Given the description of an element on the screen output the (x, y) to click on. 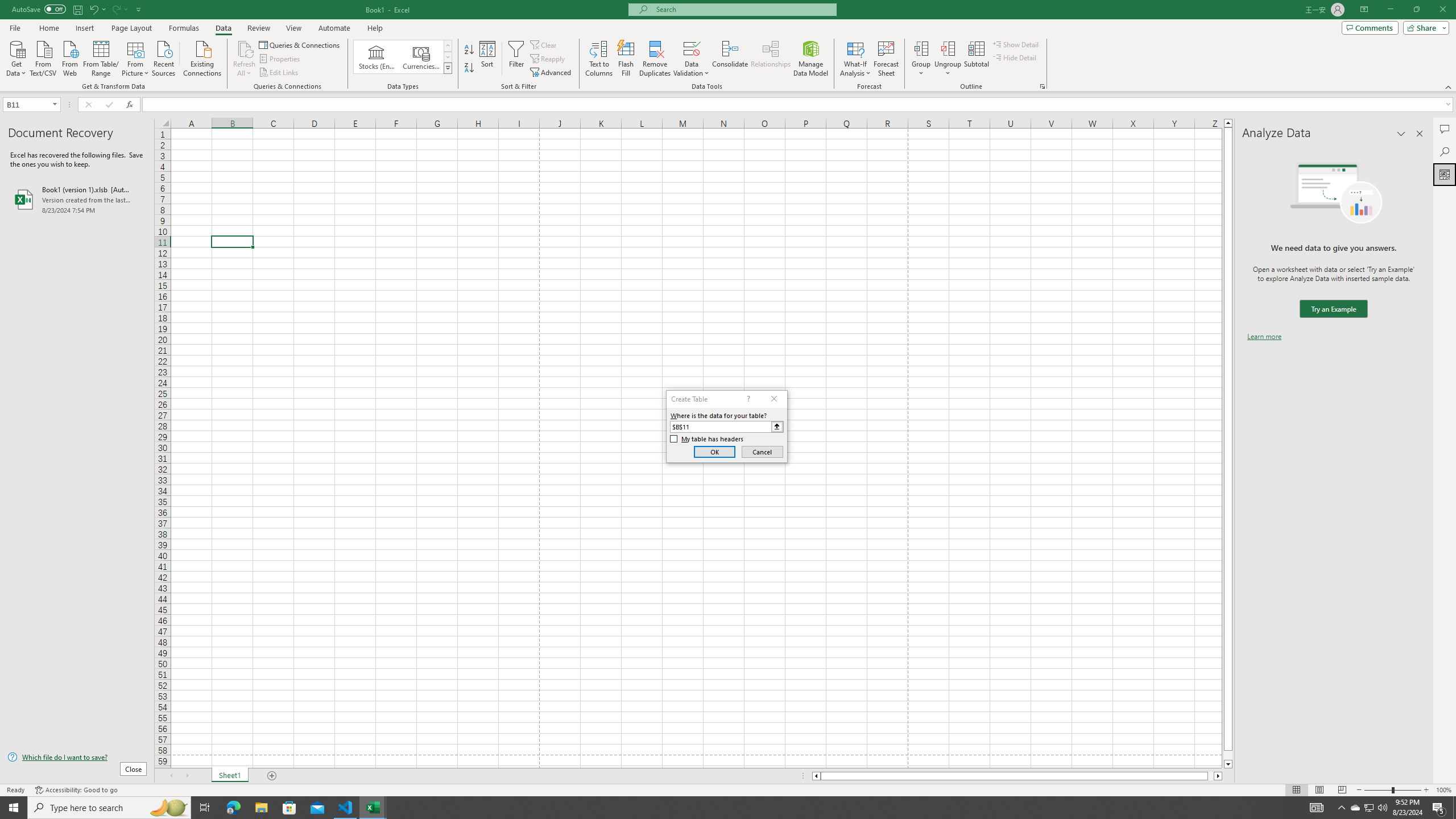
Scroll Right (187, 775)
Formulas (184, 28)
Redo (115, 9)
AutoSave (38, 9)
Currencies (English) (420, 56)
Column right (1218, 775)
AutomationID: ConvertToLinkedEntity (403, 56)
Hide Detail (1014, 56)
Edit Links (279, 72)
System (6, 6)
Ungroup... (947, 48)
Clear (544, 44)
Relationships (770, 58)
Search (1444, 151)
Show Detail (1016, 44)
